Given the description of an element on the screen output the (x, y) to click on. 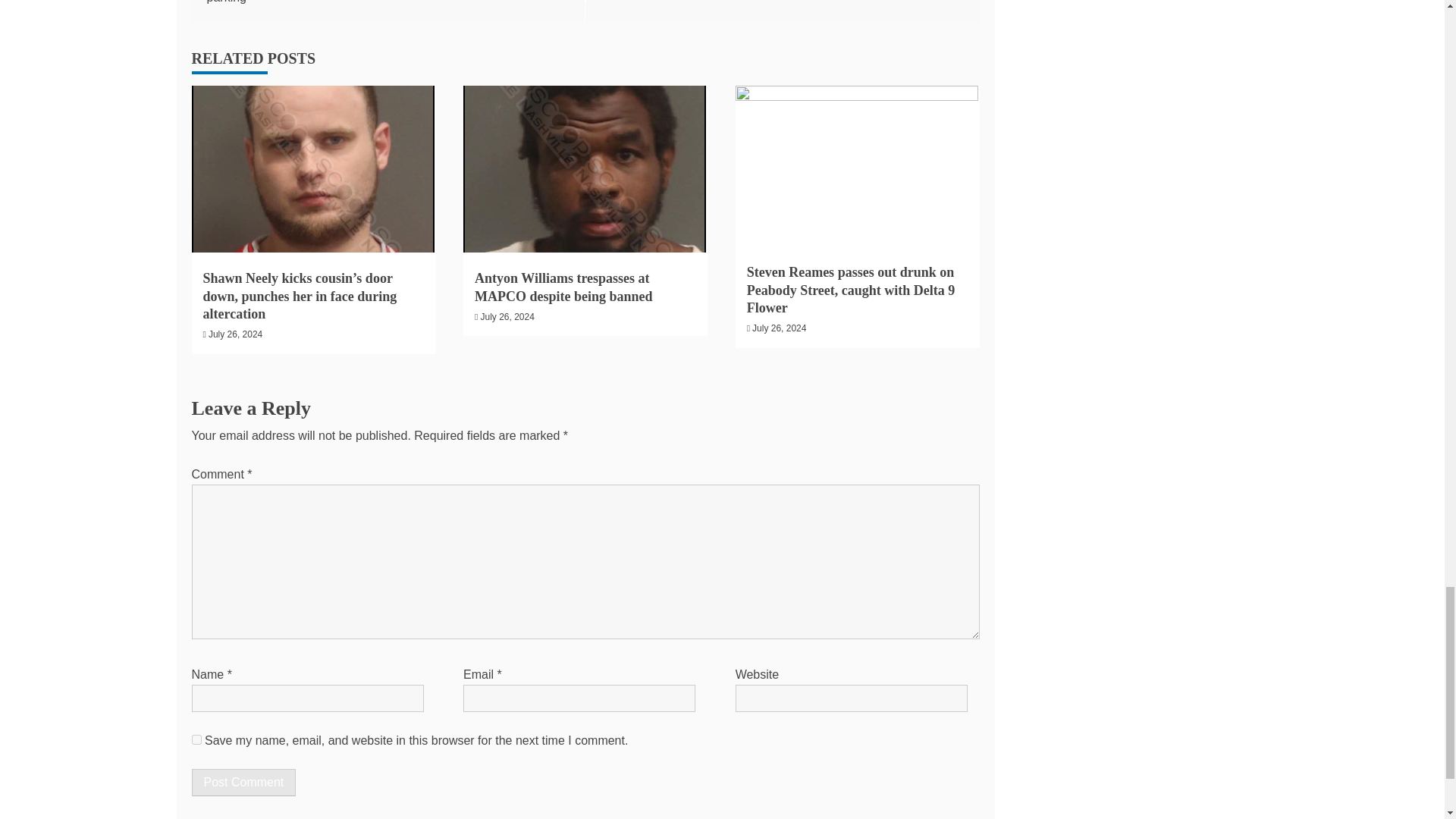
yes (195, 739)
Post Comment (242, 782)
